Given the description of an element on the screen output the (x, y) to click on. 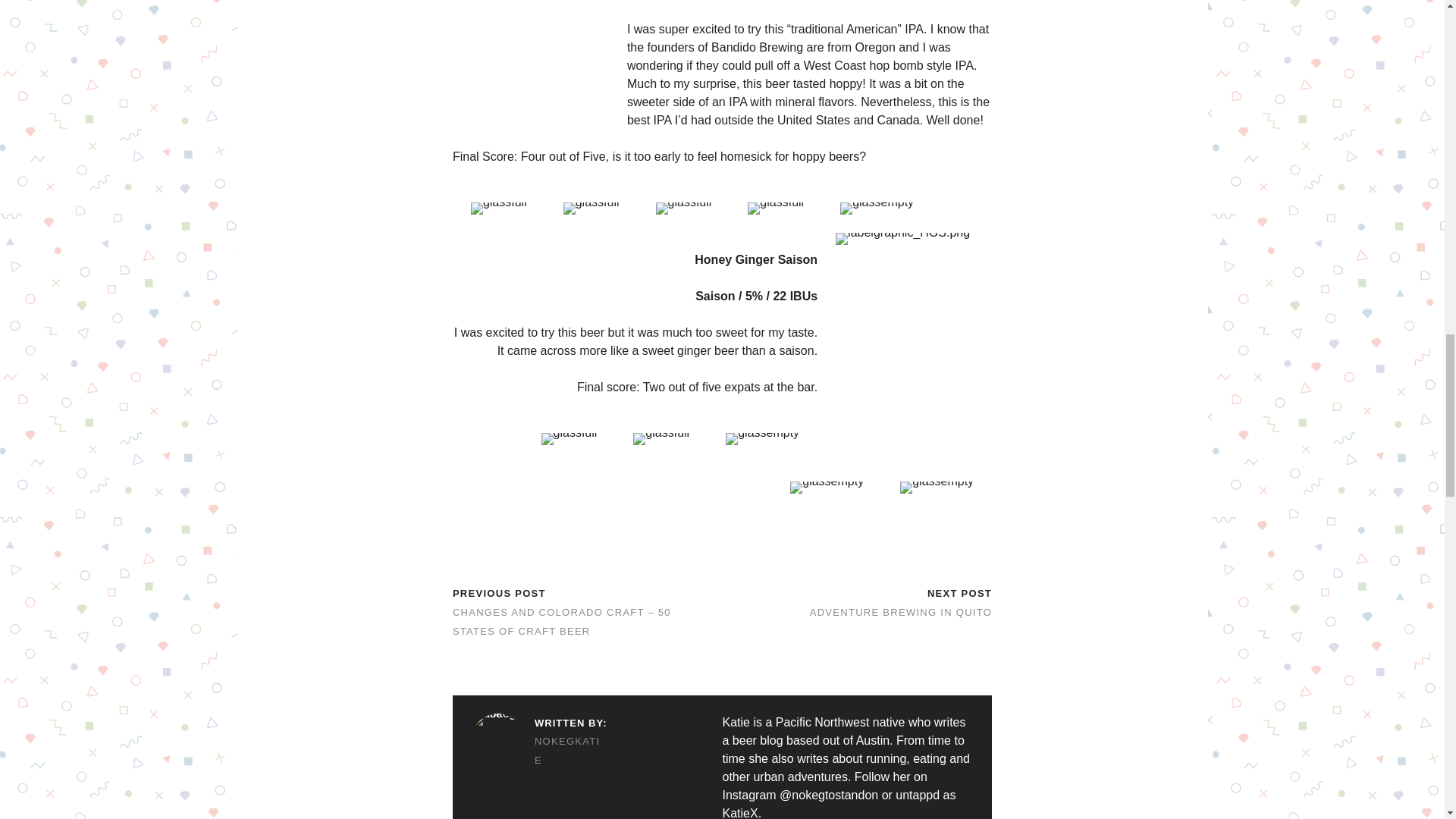
Posts by nokegkatie (538, 750)
ADVENTURE BREWING IN QUITO (900, 612)
NOKEGKATIE (538, 750)
